Given the description of an element on the screen output the (x, y) to click on. 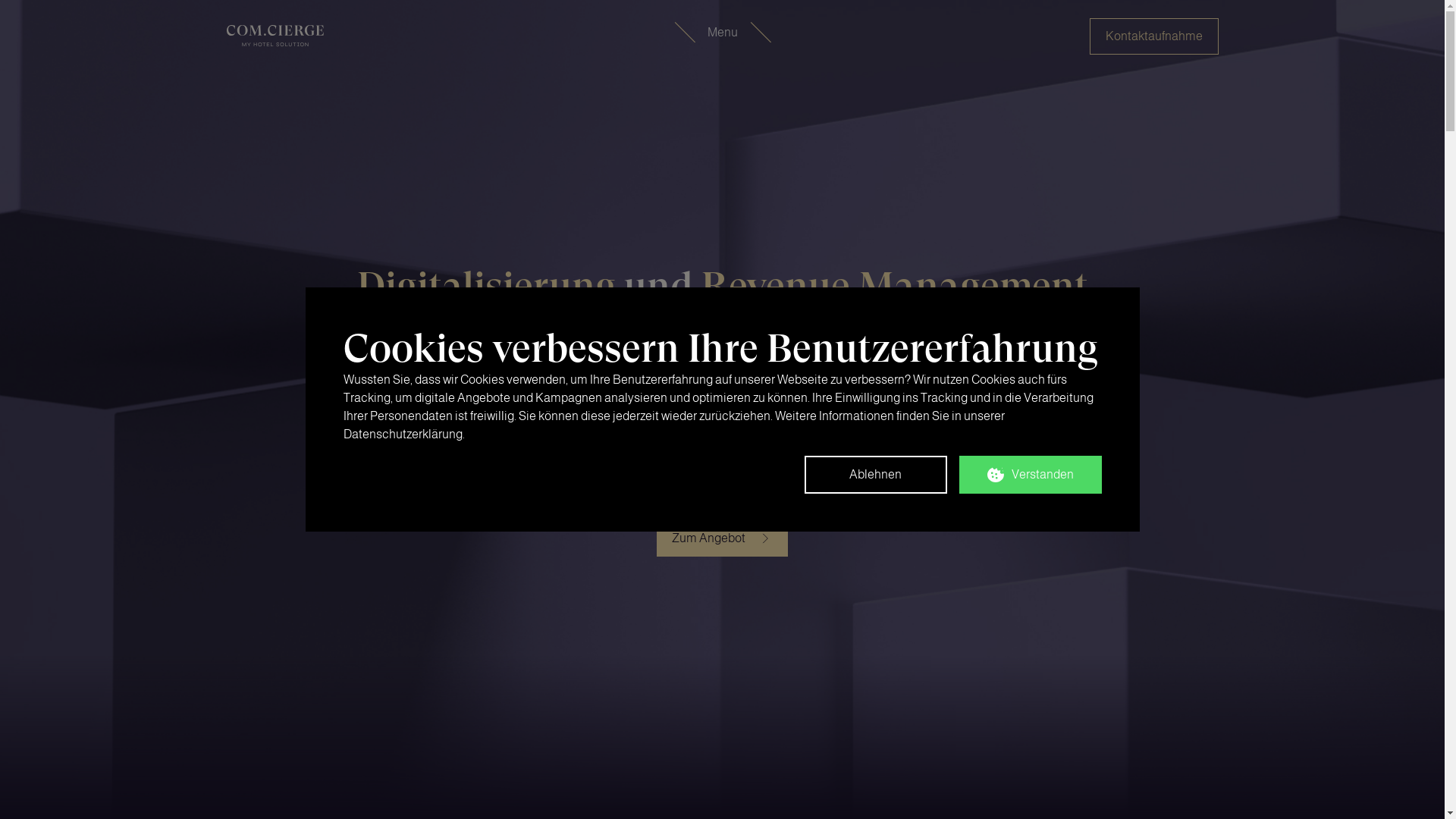
Revenue Management Element type: text (893, 285)
Digitalisierung Element type: text (485, 285)
Verstanden Element type: text (1029, 474)
Zum Angebot Element type: text (721, 538)
Ablehnen Element type: text (874, 474)
Menu Element type: text (721, 32)
Kontaktaufnahme Element type: text (1152, 36)
